Given the description of an element on the screen output the (x, y) to click on. 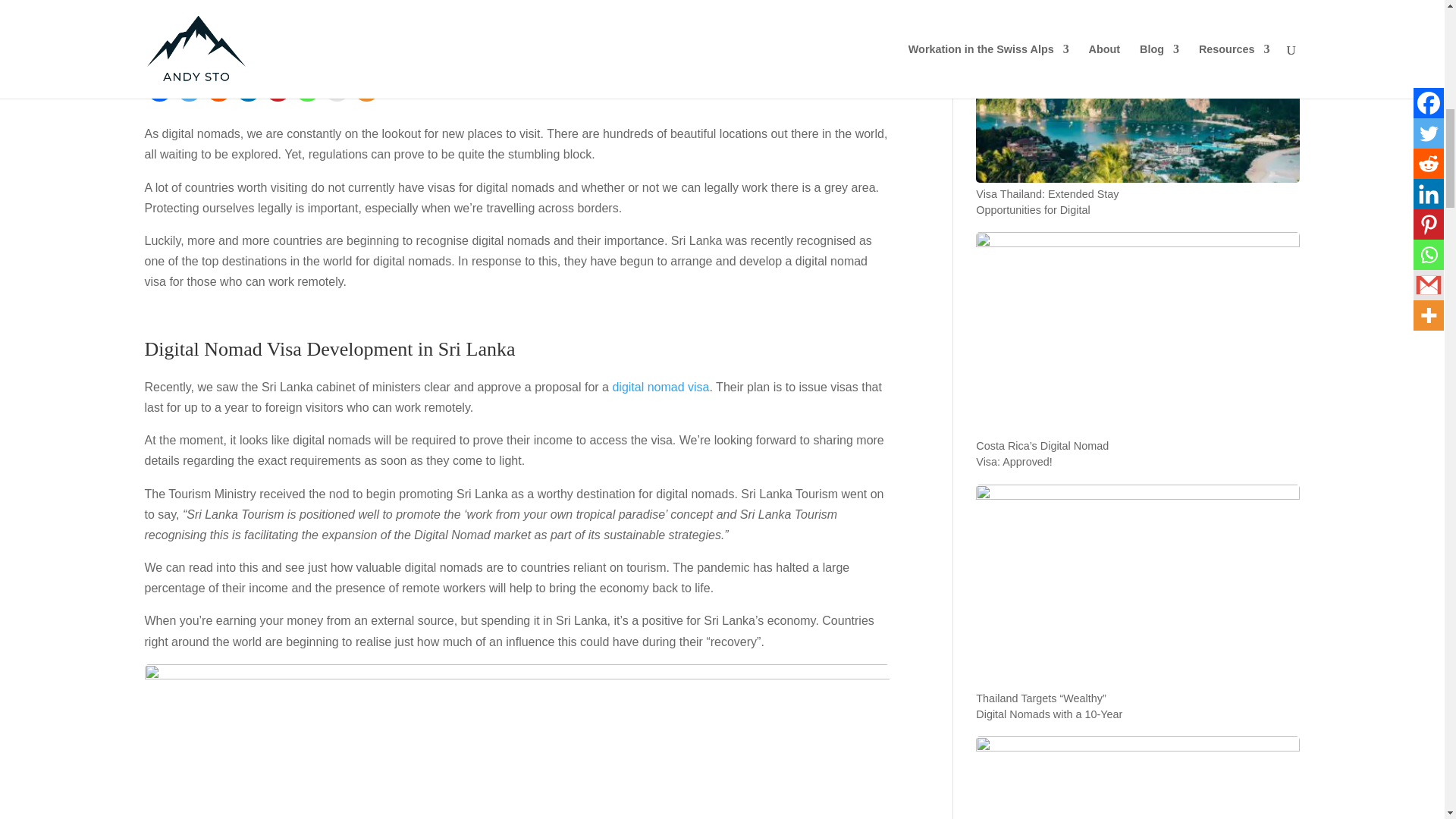
Whatsapp (307, 88)
Digital Nomad Essentials in Sri Lanka (280, 24)
Linkedin (248, 88)
Reddit (218, 88)
Digital Nomadism is Growing at an Unprecedented Rate (301, 7)
Facebook (158, 88)
Twitter (189, 88)
Digital Nomadism is Growing at an Unprecedented Rate (301, 7)
Pinterest (276, 88)
Digital Nomad Essentials in Sri Lanka (280, 24)
